Given the description of an element on the screen output the (x, y) to click on. 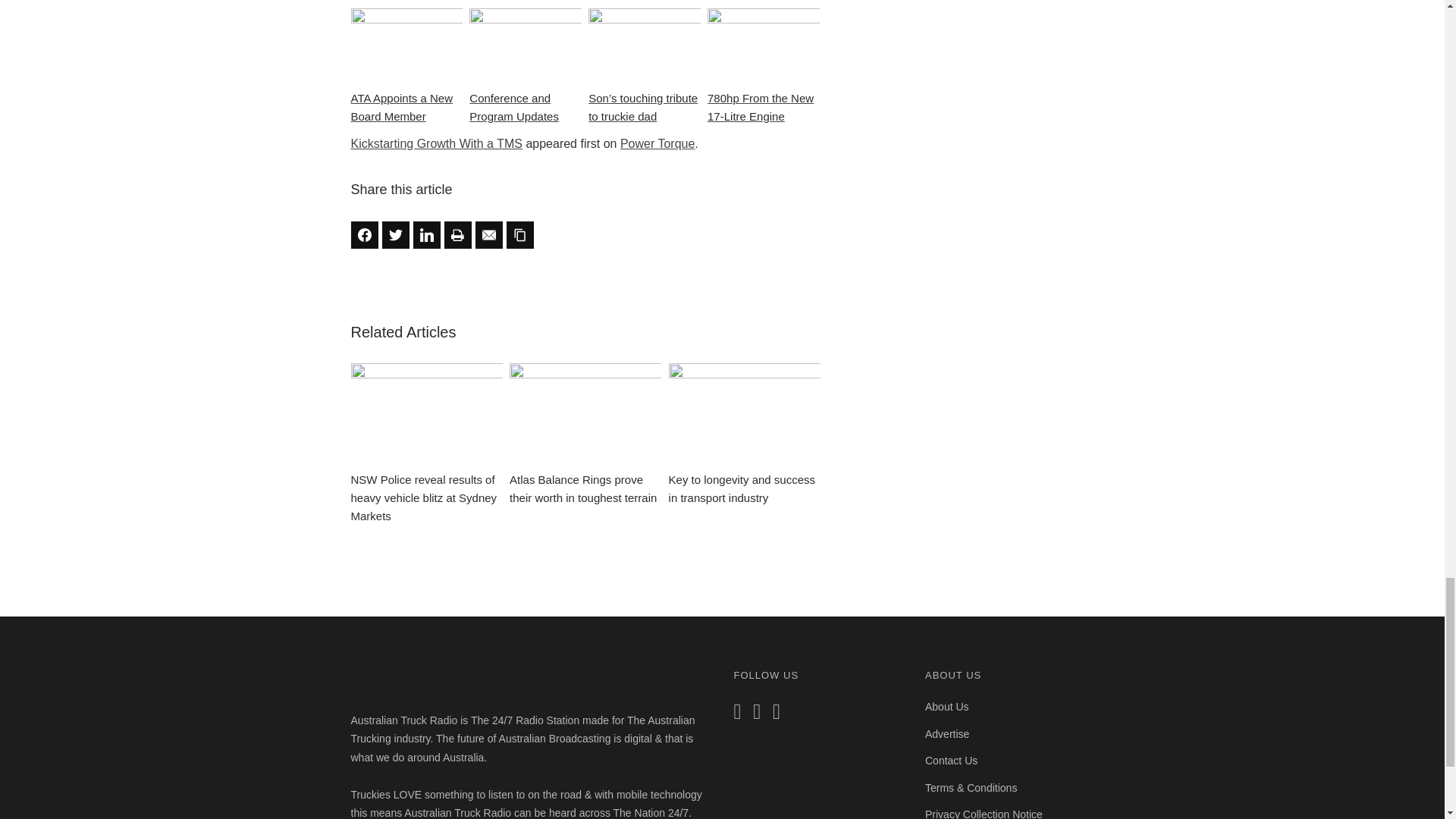
Share on Print (457, 234)
Share on Copy Link (520, 234)
Conference and Program Updates (524, 67)
Power Torque (657, 143)
Share on LinkedIn (425, 234)
Kickstarting Growth With a TMS (435, 143)
780hp From the New 17-Litre Engine (763, 67)
Share on Facebook (363, 234)
ATA Appoints a New Board Member (406, 67)
Share on Email (488, 234)
Share on Twitter (395, 234)
